Given the description of an element on the screen output the (x, y) to click on. 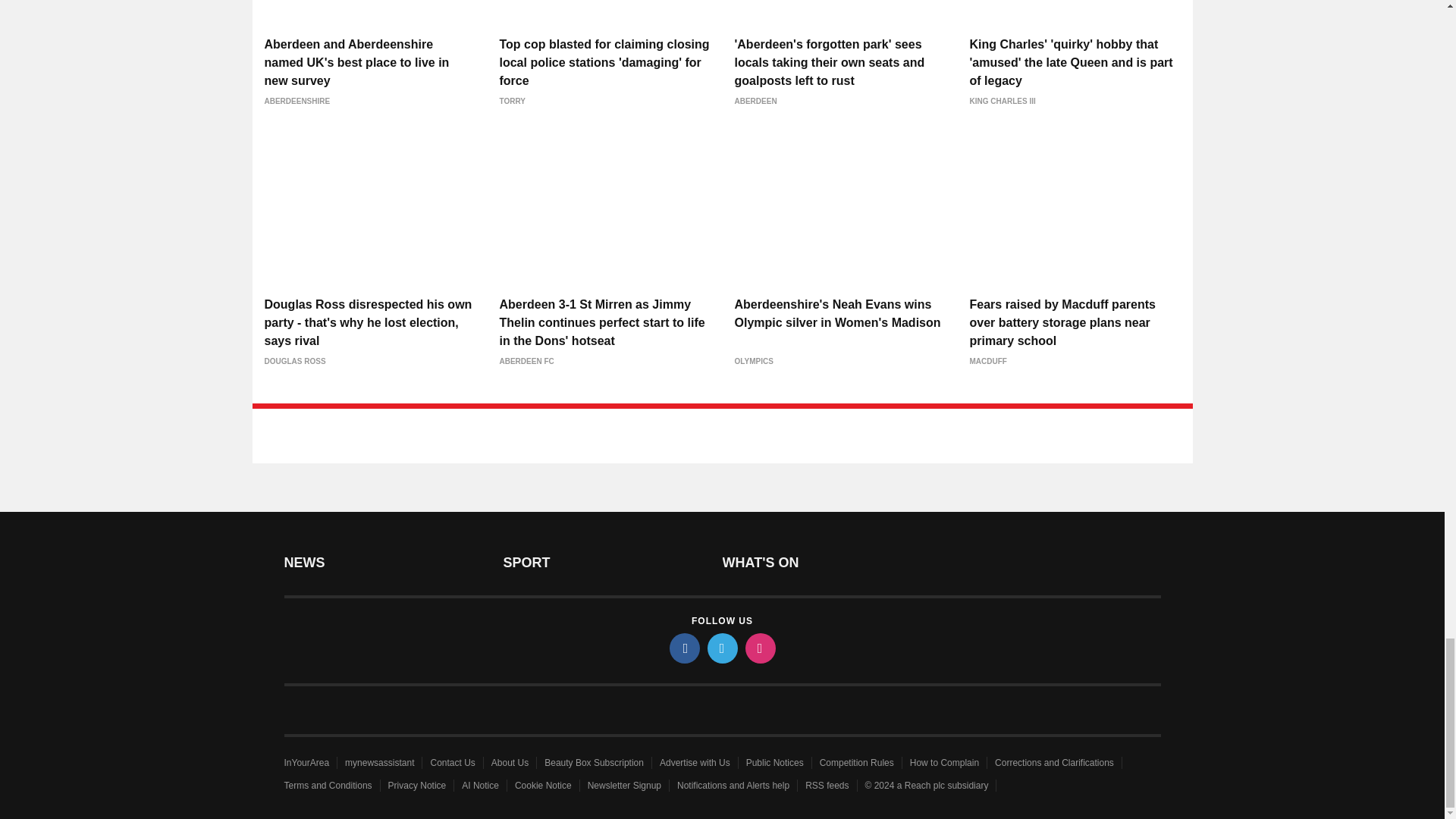
instagram (759, 648)
facebook (683, 648)
twitter (721, 648)
